Given the description of an element on the screen output the (x, y) to click on. 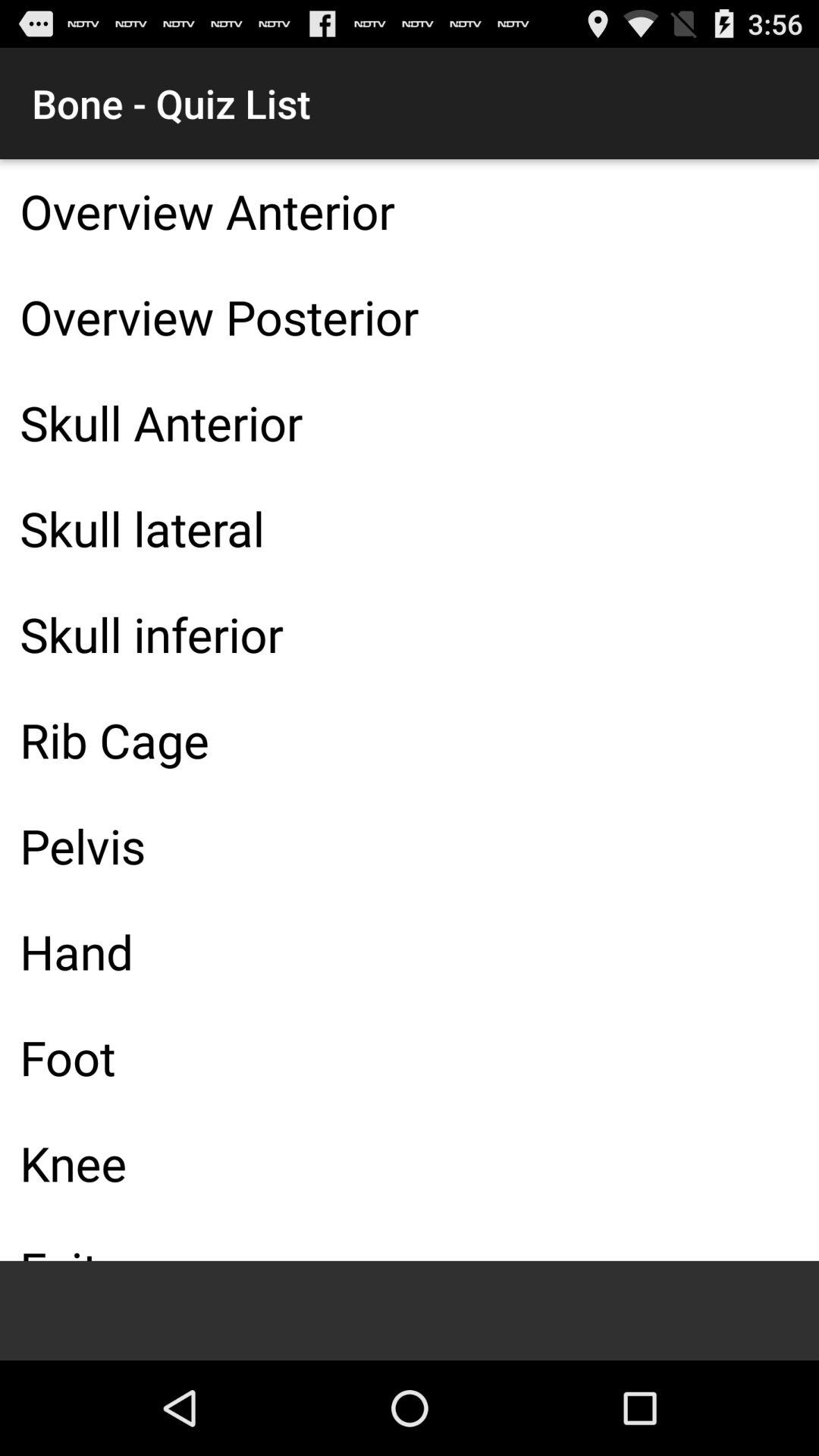
choose the pelvis icon (409, 845)
